Given the description of an element on the screen output the (x, y) to click on. 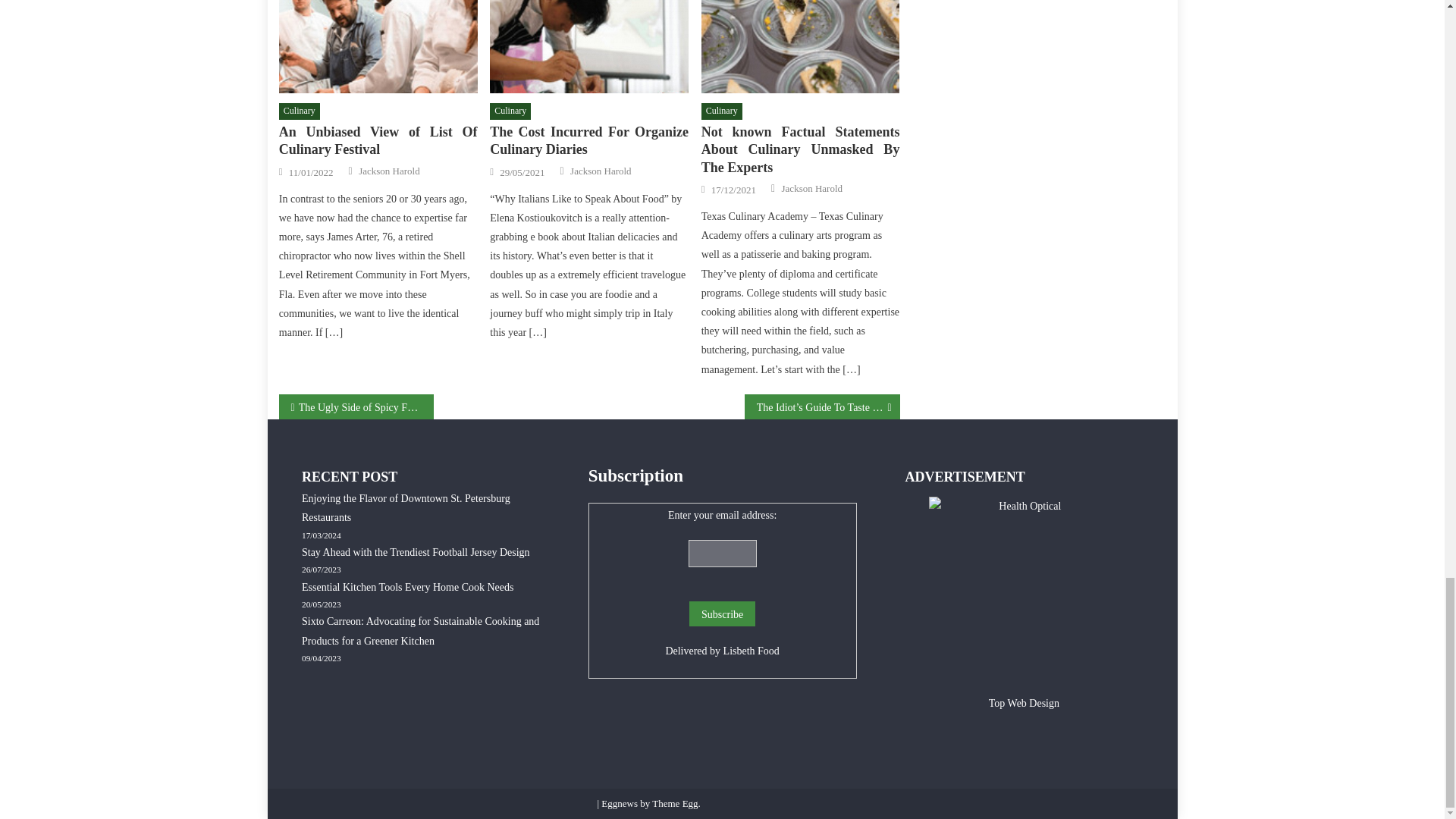
Jackson Harold (389, 171)
The Cost Incurred For Organize Culinary Diaries (588, 140)
The Ugly Side of Spicy Food Recipes (356, 406)
Jackson Harold (812, 188)
The Cost Incurred For Organize Culinary Diaries (588, 47)
Culinary (721, 111)
Culinary (299, 111)
An Unbiased View of List Of Culinary Festival (378, 140)
An Unbiased View of List Of Culinary Festival (378, 47)
Jackson Harold (600, 171)
Subscribe (721, 613)
Culinary (510, 111)
